Given the description of an element on the screen output the (x, y) to click on. 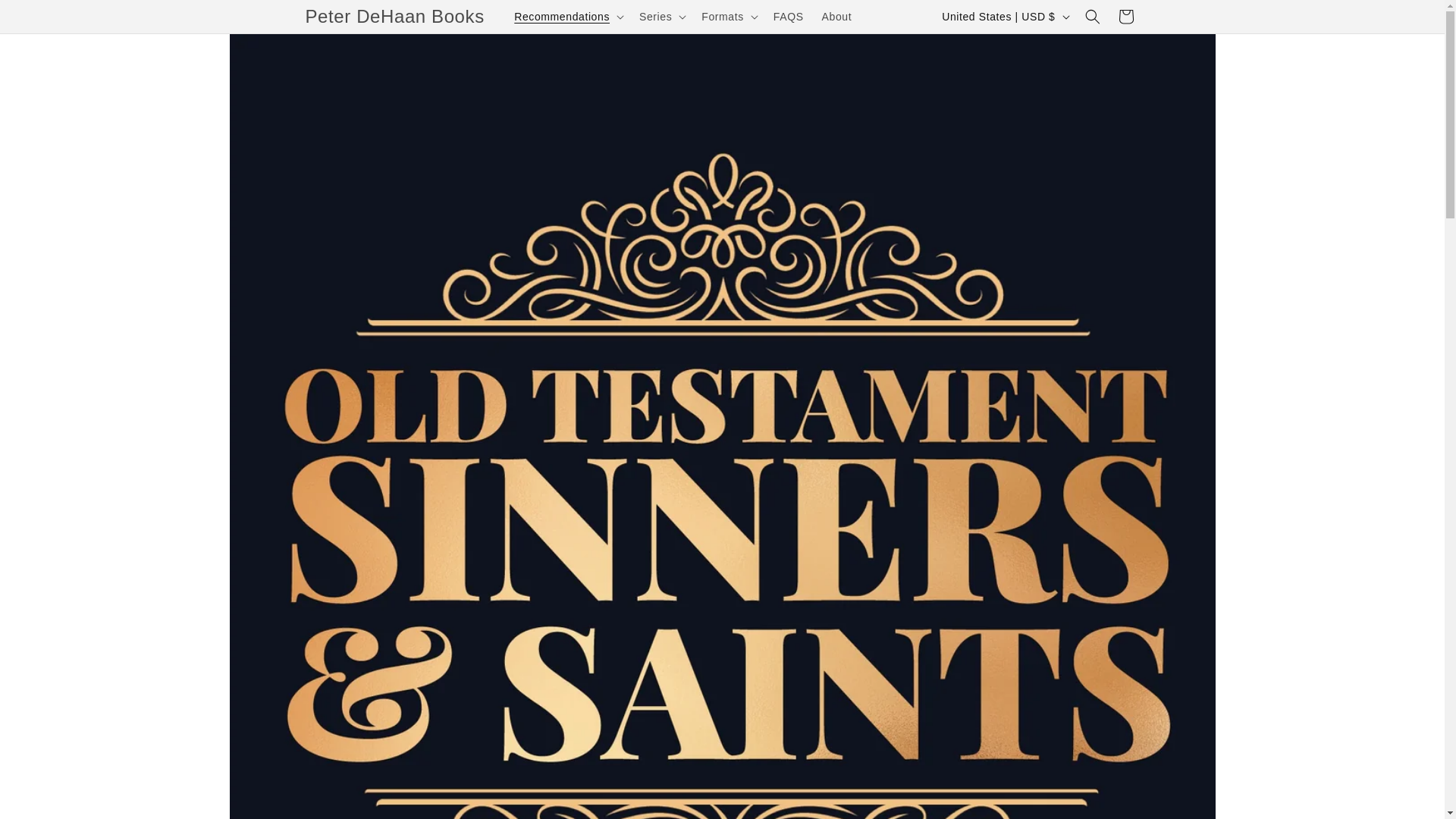
Skip to content (45, 17)
Cart (1124, 16)
Peter DeHaan Books (394, 16)
FAQS (788, 16)
About (836, 16)
